Given the description of an element on the screen output the (x, y) to click on. 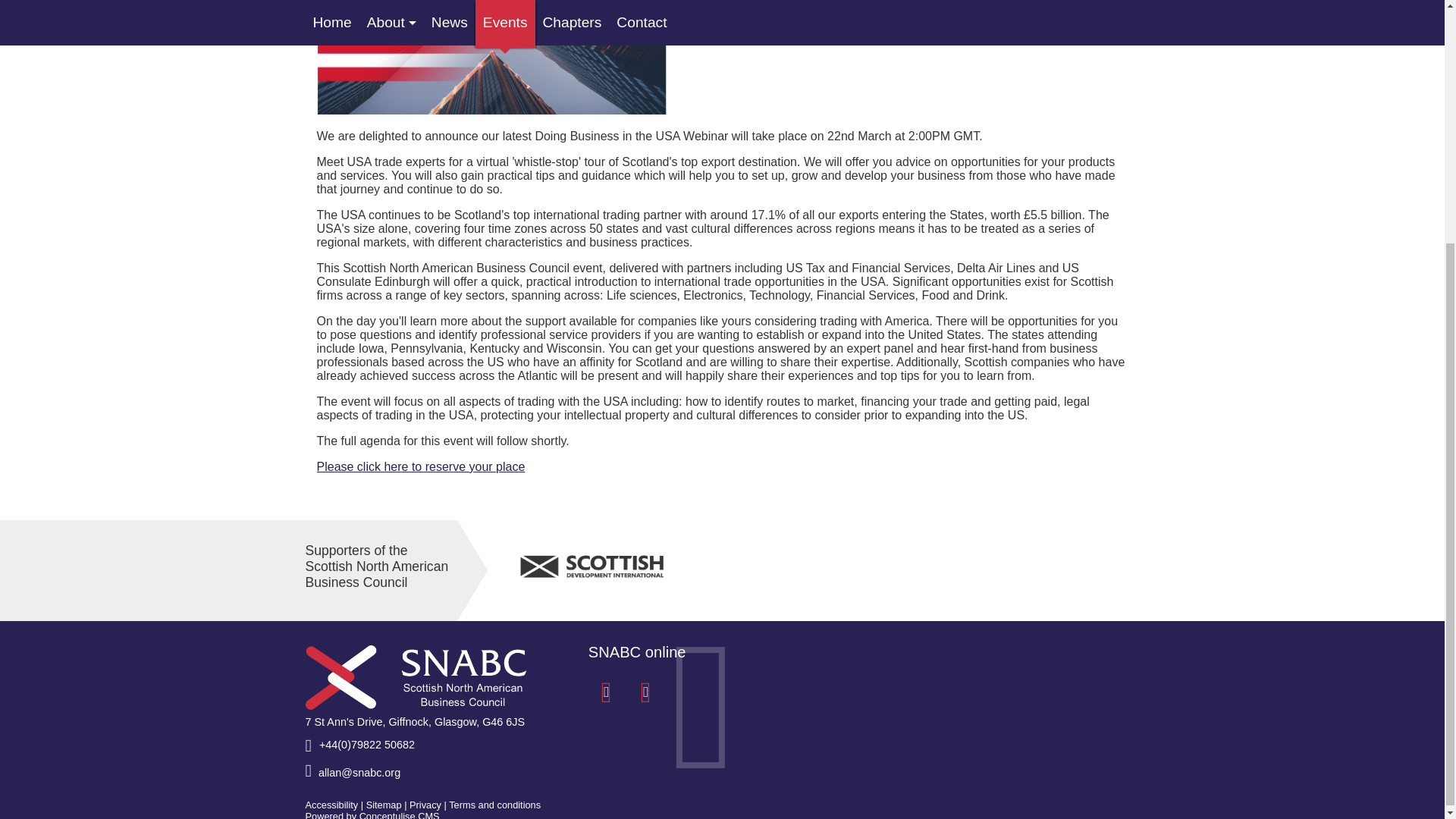
Website privacy statement (425, 804)
Privacy (425, 804)
Terms and conditions (494, 804)
Sitemap (383, 804)
Accessibility (331, 804)
Website terms and conditions (494, 804)
Website site map (383, 804)
Please click here to reserve your place (421, 466)
Website Accessibility (331, 804)
